Given the description of an element on the screen output the (x, y) to click on. 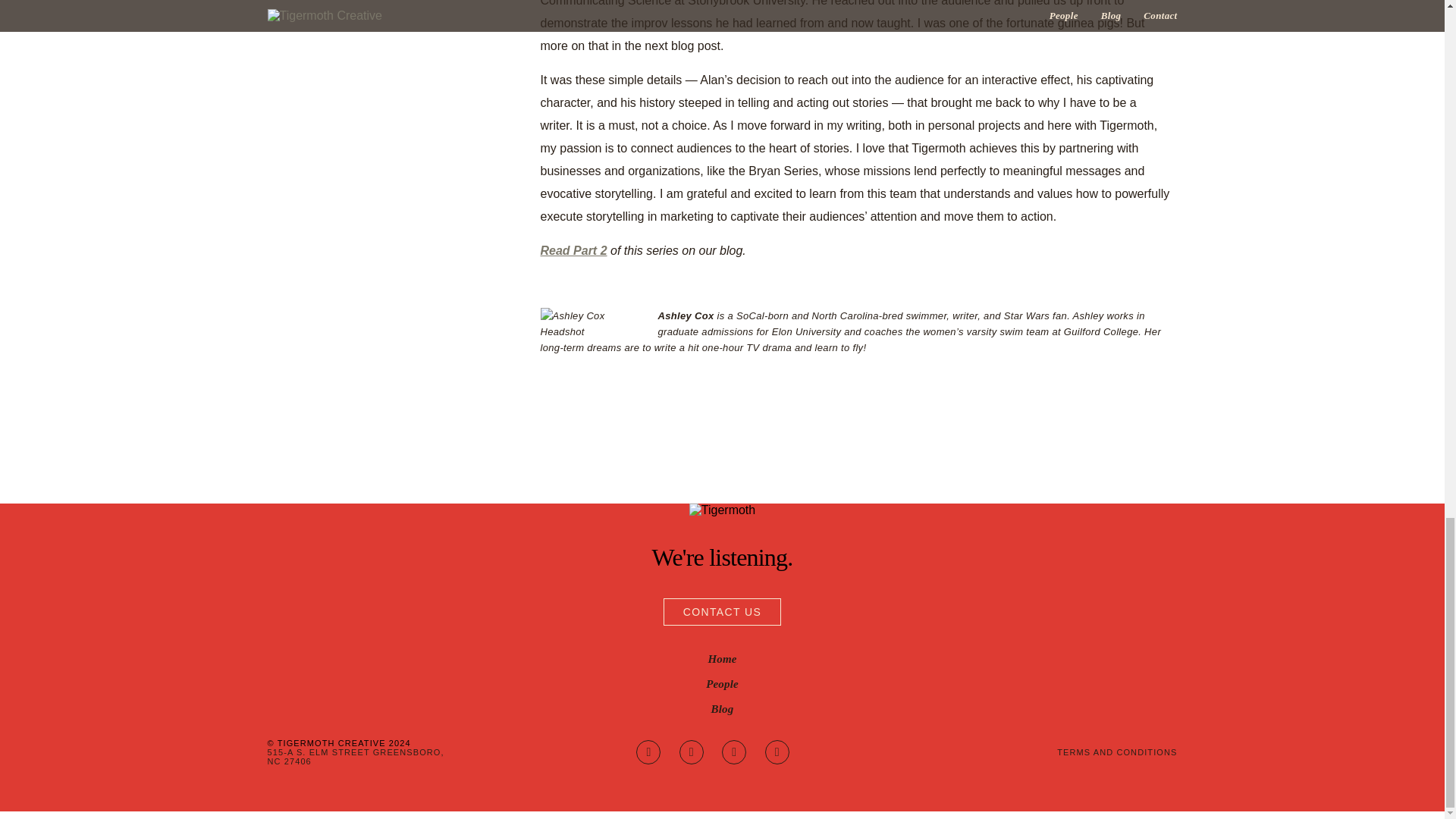
Read Part 2 (573, 250)
People (721, 684)
CONTACT US (722, 611)
Blog (721, 708)
515-A S. ELM STREET GREENSBORO, NC 27406 (355, 756)
TERMS AND CONDITIONS (1080, 751)
Home (721, 658)
